Given the description of an element on the screen output the (x, y) to click on. 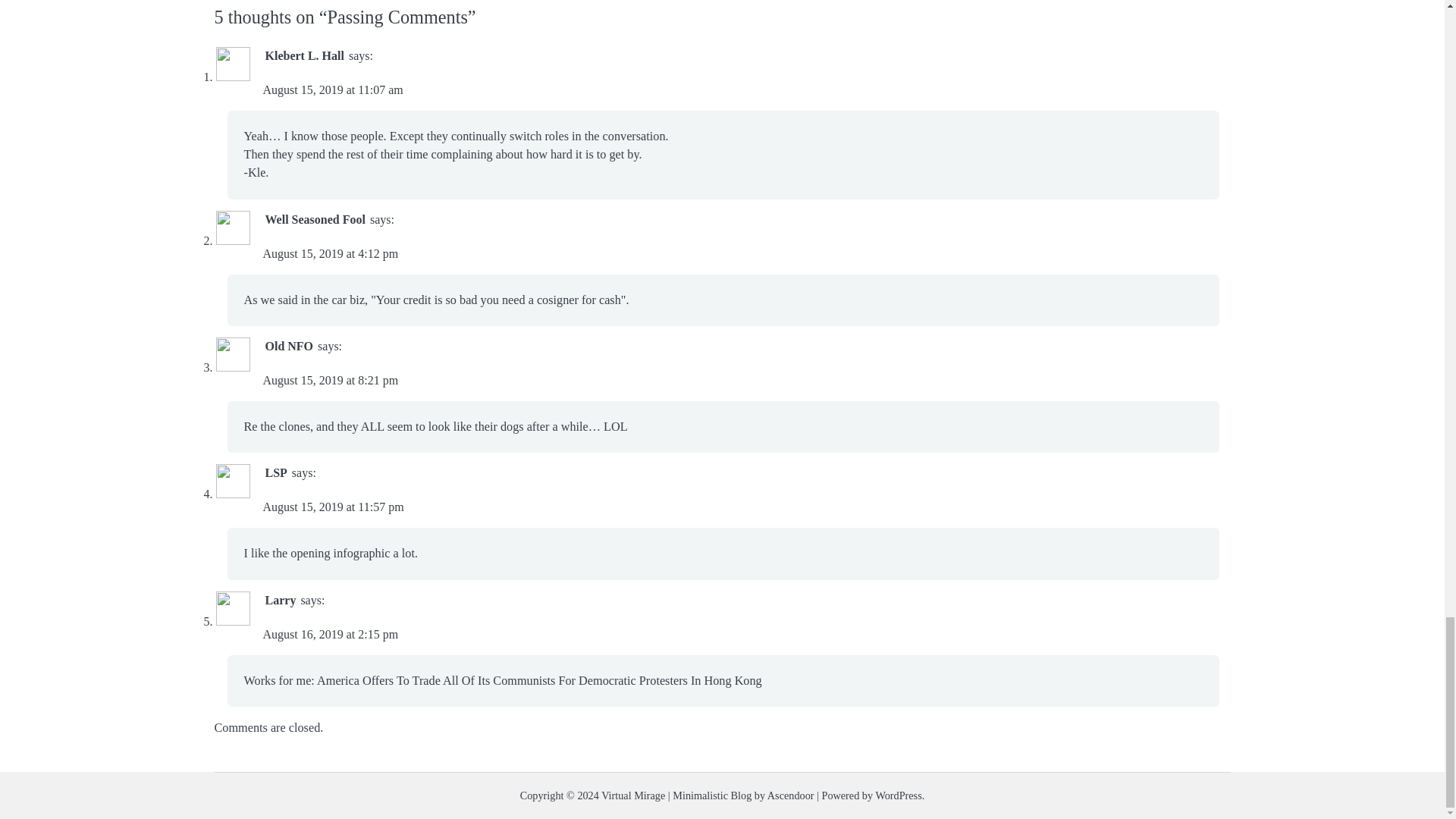
August 15, 2019 at 11:07 am (332, 89)
August 16, 2019 at 2:15 pm (329, 634)
August 15, 2019 at 11:57 pm (332, 506)
Ascendoor (790, 795)
August 15, 2019 at 4:12 pm (329, 253)
WordPress (898, 795)
Virtual Mirage (633, 795)
August 15, 2019 at 8:21 pm (329, 379)
